Given the description of an element on the screen output the (x, y) to click on. 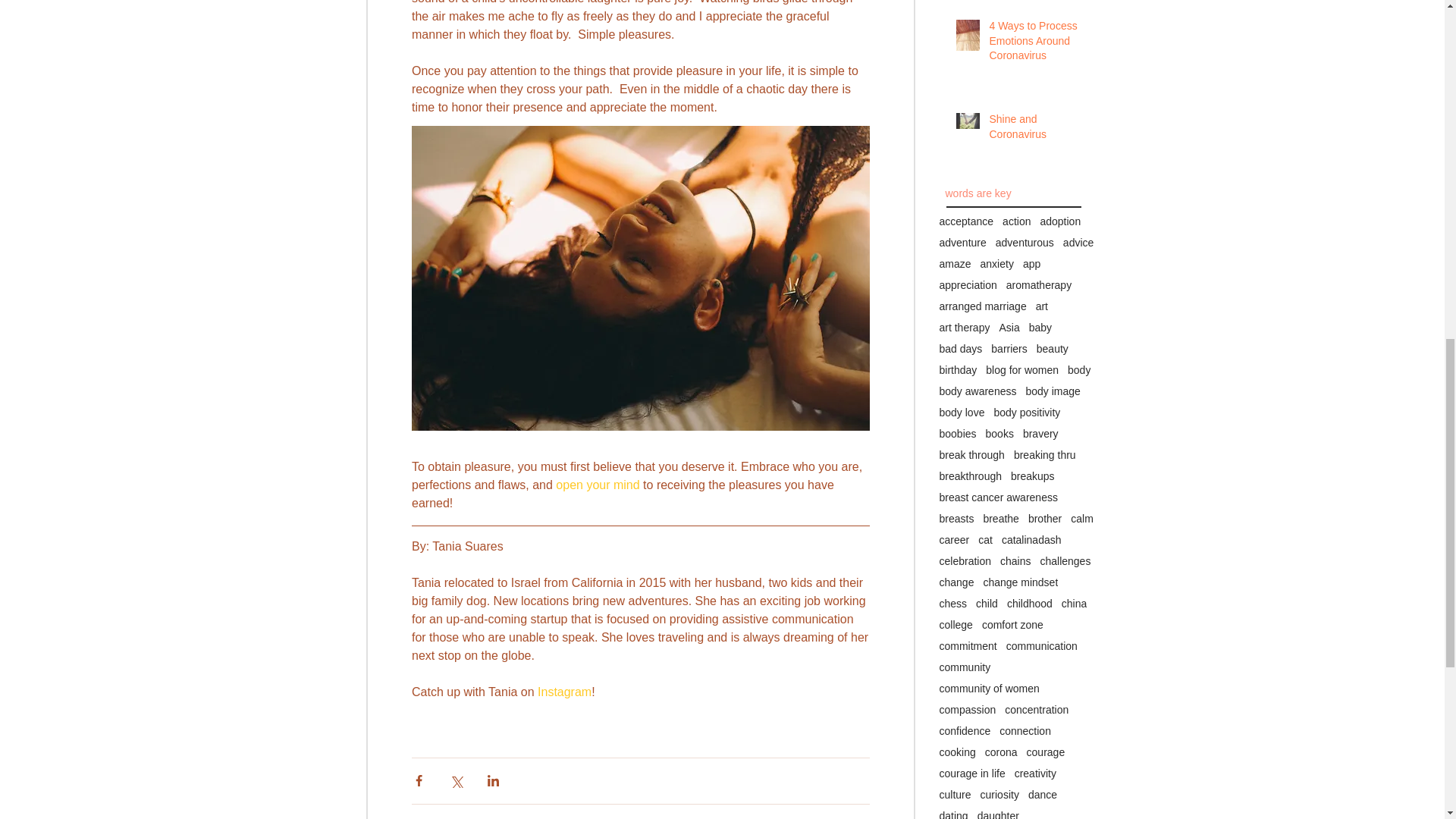
Shine and Coronavirus (1034, 130)
4 Ways to Process Emotions Around Coronavirus (1034, 43)
action (1016, 221)
acceptance (965, 221)
Instagram (564, 691)
open your mind (597, 484)
